Given the description of an element on the screen output the (x, y) to click on. 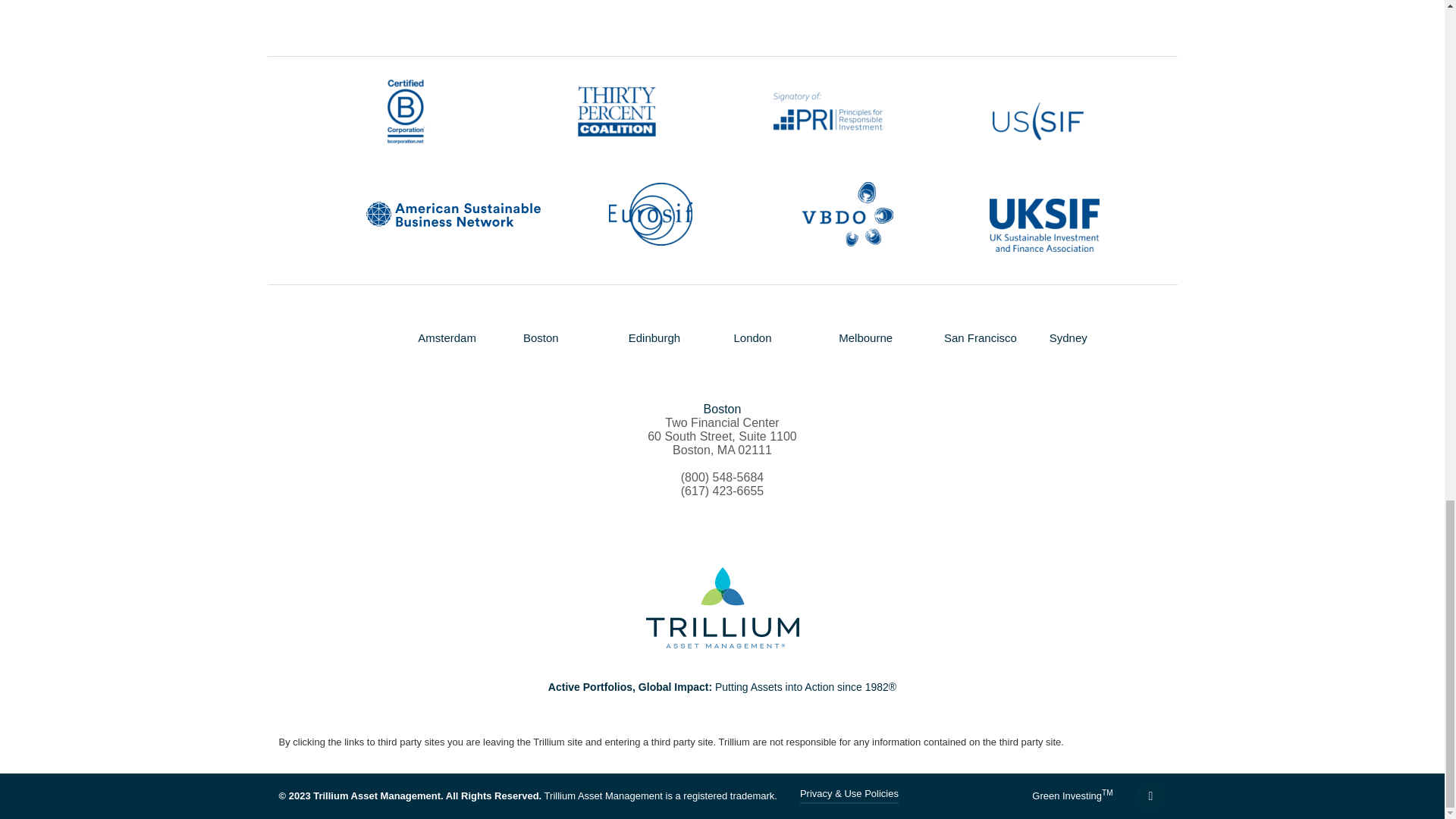
Sydney (1068, 337)
London (752, 337)
Boston (540, 337)
Edinburgh (653, 337)
Melbourne (865, 337)
San Francisco (979, 337)
Amsterdam (446, 337)
